Given the description of an element on the screen output the (x, y) to click on. 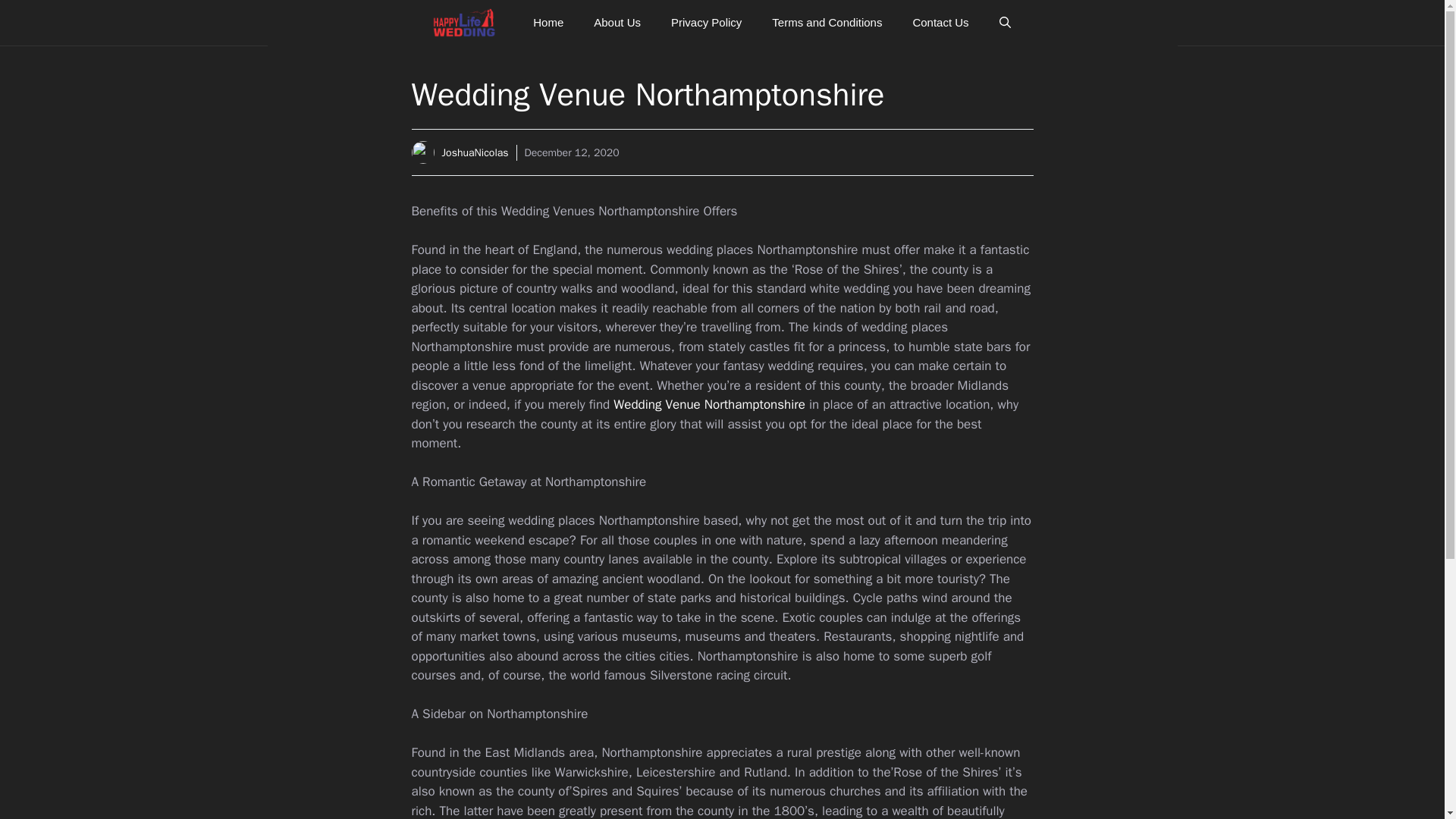
Wedding Venue Northamptonshire (708, 404)
Privacy Policy (706, 22)
JoshuaNicolas (474, 152)
Terms and Conditions (826, 22)
Happy Life Wedding (465, 22)
Contact Us (940, 22)
About Us (617, 22)
Home (548, 22)
